Given the description of an element on the screen output the (x, y) to click on. 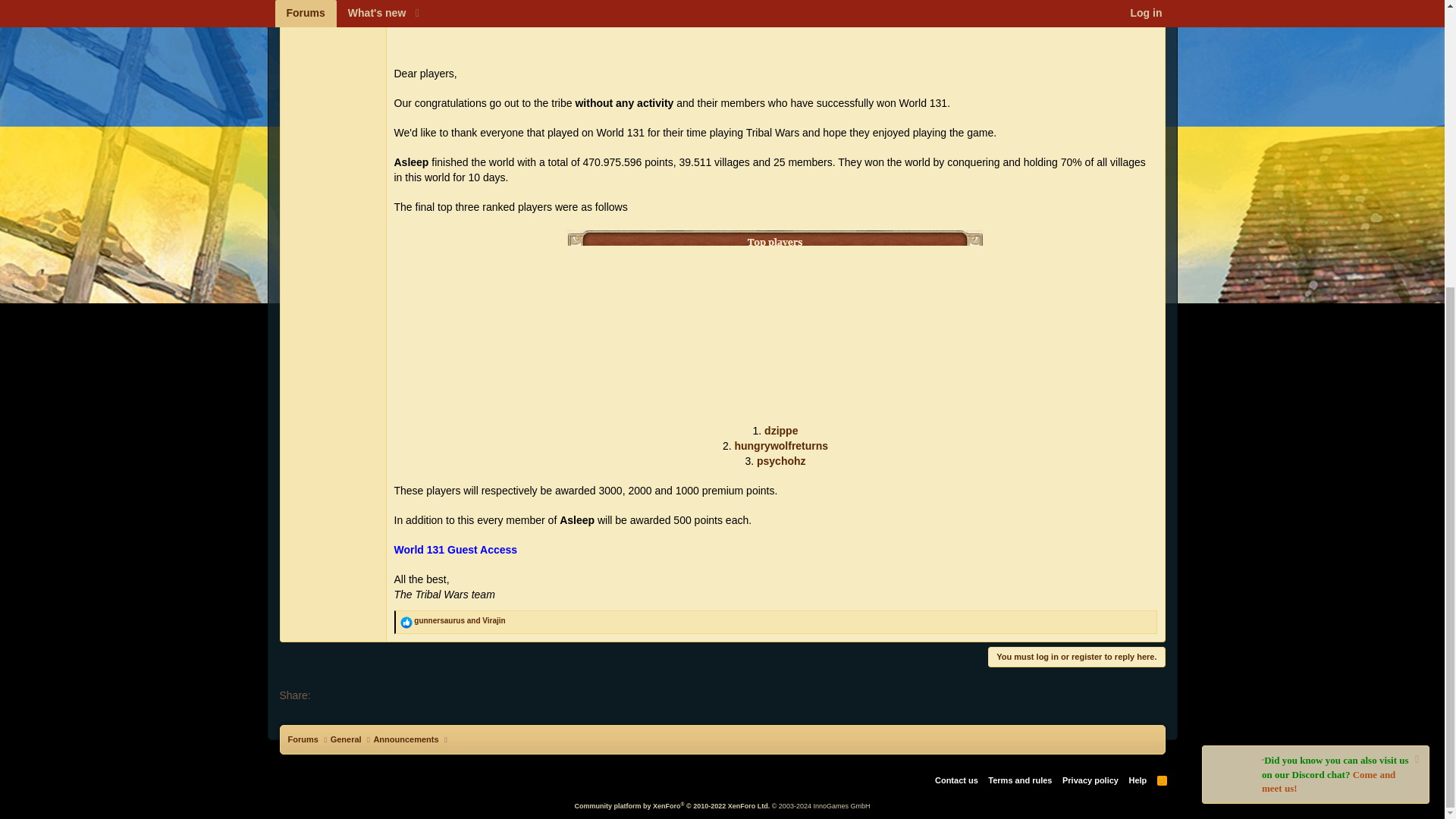
General (345, 739)
hungrywolfreturns (780, 445)
Forums (303, 739)
You must log in or register to reply here. (1076, 657)
en131 top tribe.png (775, 26)
gunnersaurus and Virajin (459, 620)
psychohz (781, 460)
Like (406, 622)
en131 top players.png (775, 319)
RSS (1162, 779)
World 131 Guest Access (456, 549)
Terms and rules (1019, 779)
Announcements (405, 739)
Contact us (956, 779)
dzippe (780, 430)
